Given the description of an element on the screen output the (x, y) to click on. 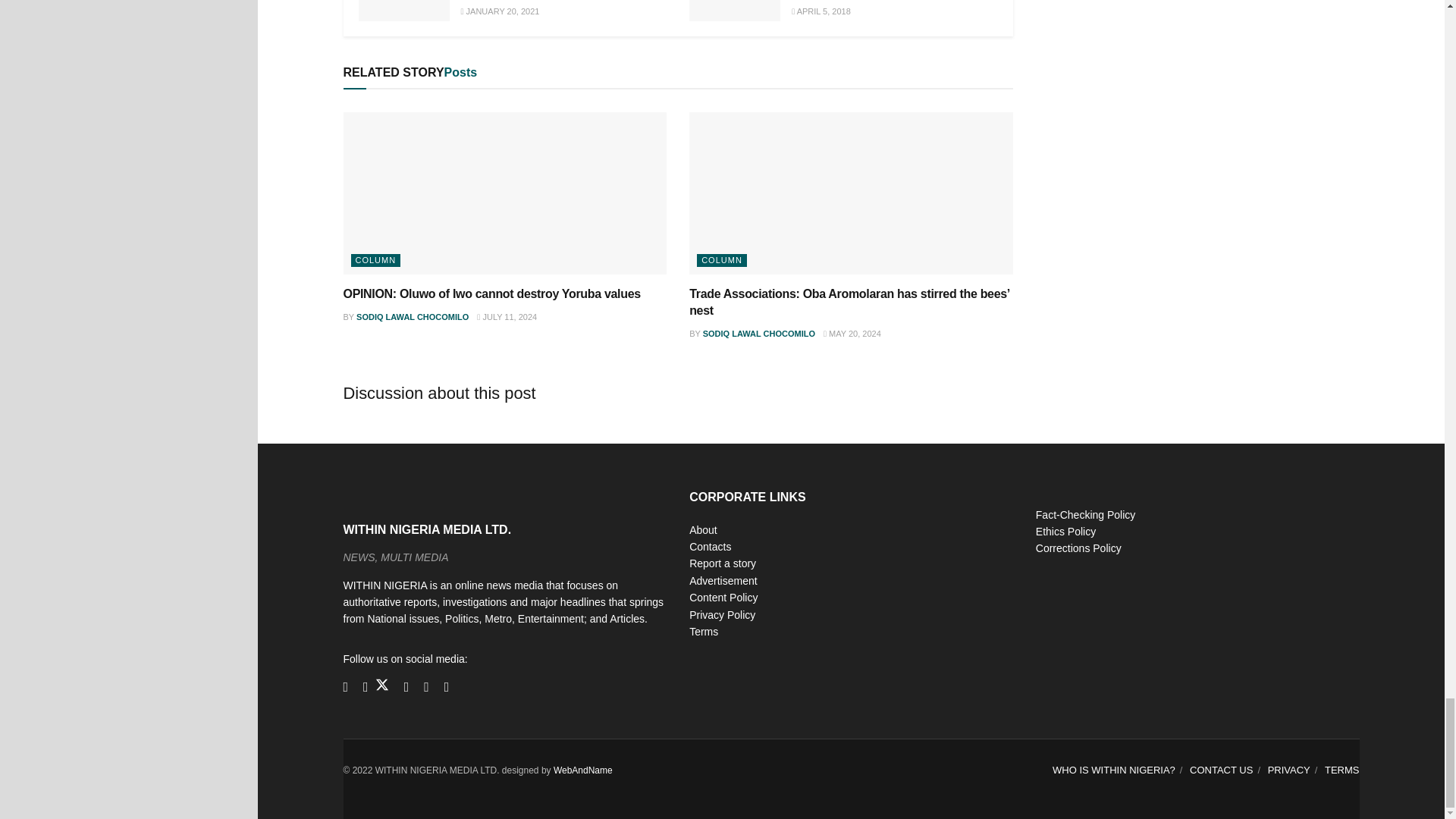
WEB AND NAME (582, 769)
